Given the description of an element on the screen output the (x, y) to click on. 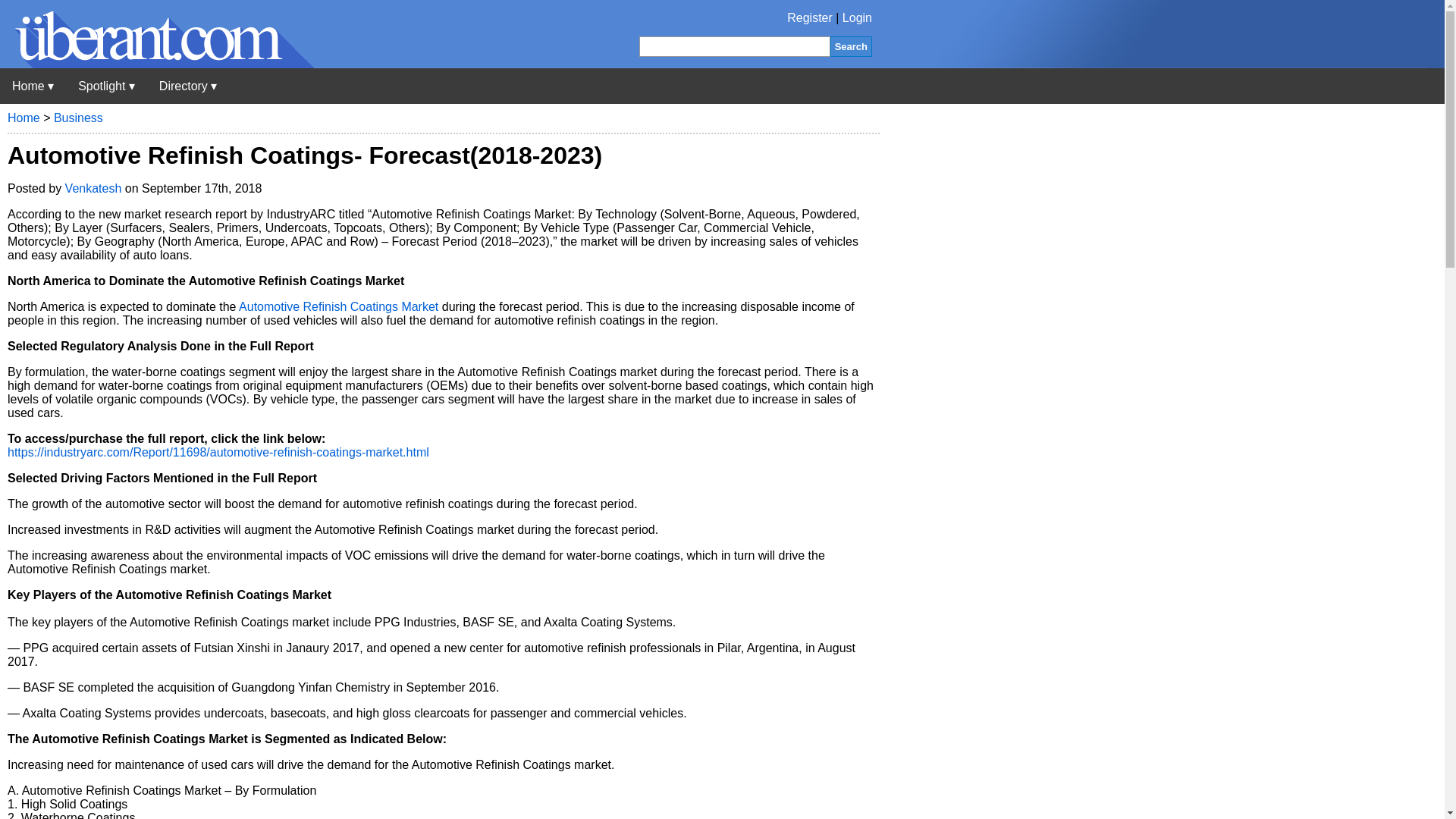
Register (809, 17)
Uberant (32, 85)
Search (850, 46)
Uberant (157, 63)
Search (850, 46)
Login (857, 17)
